Given the description of an element on the screen output the (x, y) to click on. 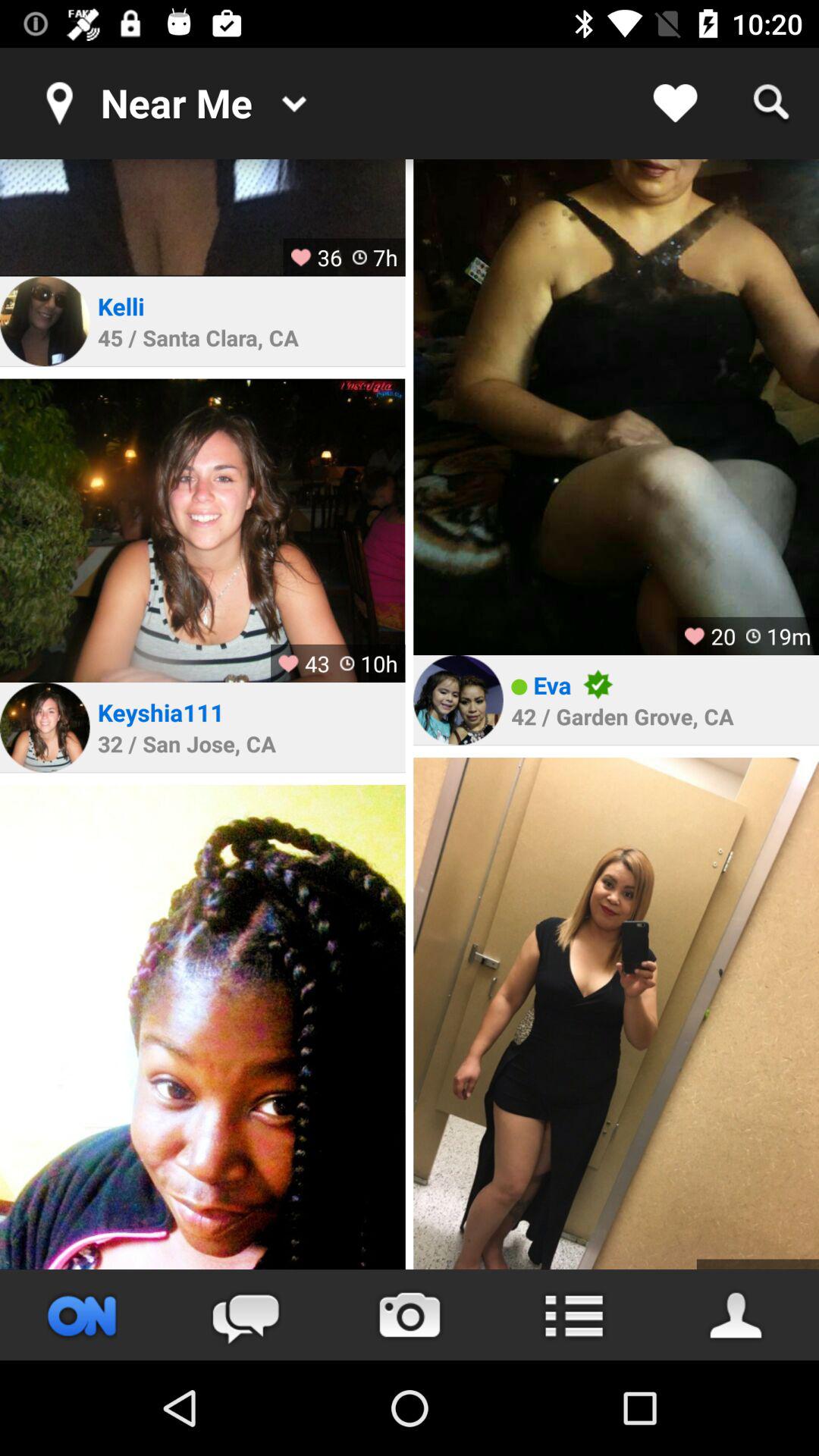
view profile (202, 1026)
